Given the description of an element on the screen output the (x, y) to click on. 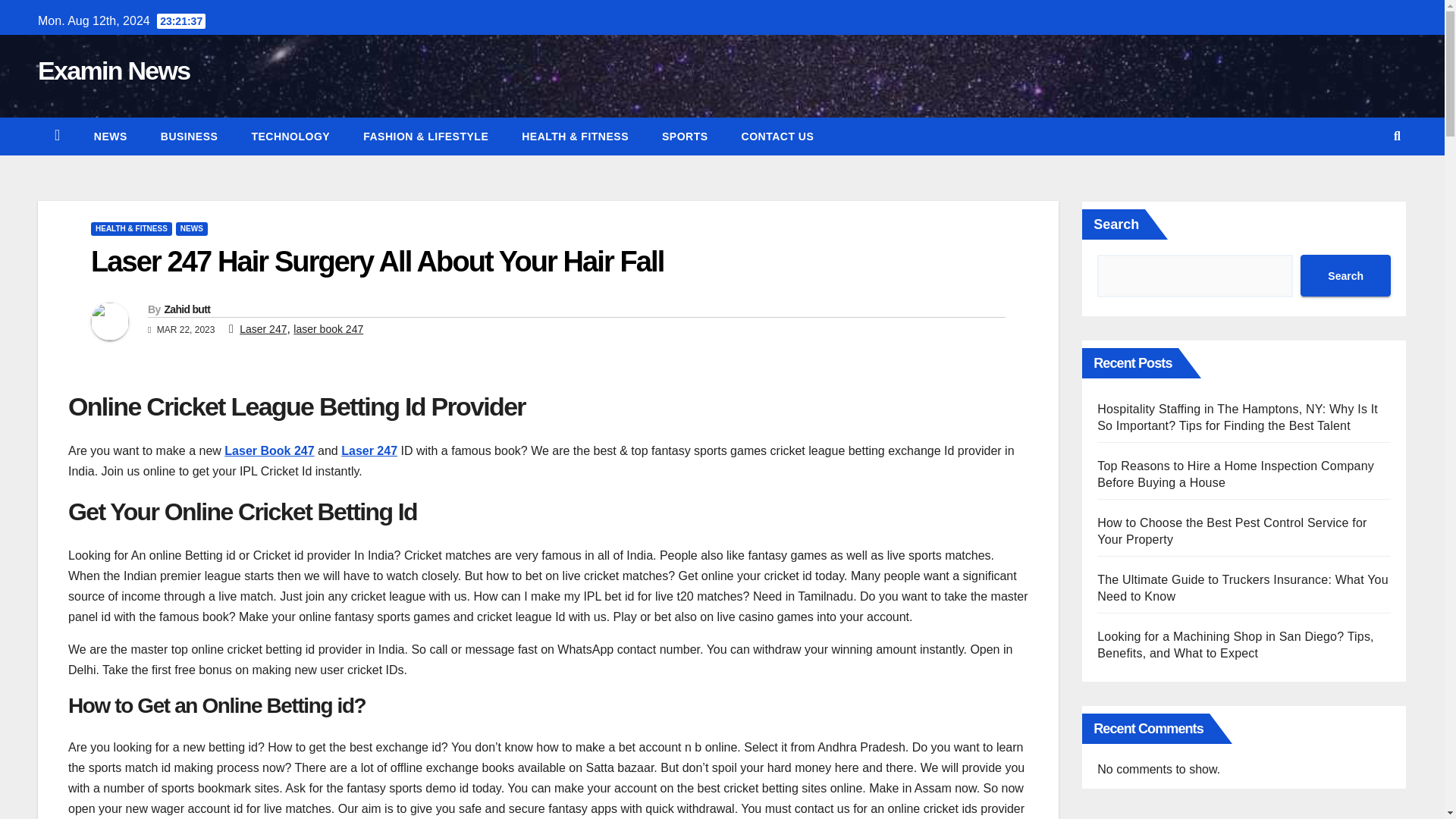
NEWS (192, 228)
laser book 247 (328, 328)
Examin News (113, 70)
Technology (290, 136)
SPORTS (685, 136)
Zahid butt (186, 309)
BUSINESS (189, 136)
Laser Book 247 (269, 450)
CONTACT US (778, 136)
CONTACT US (778, 136)
